Given the description of an element on the screen output the (x, y) to click on. 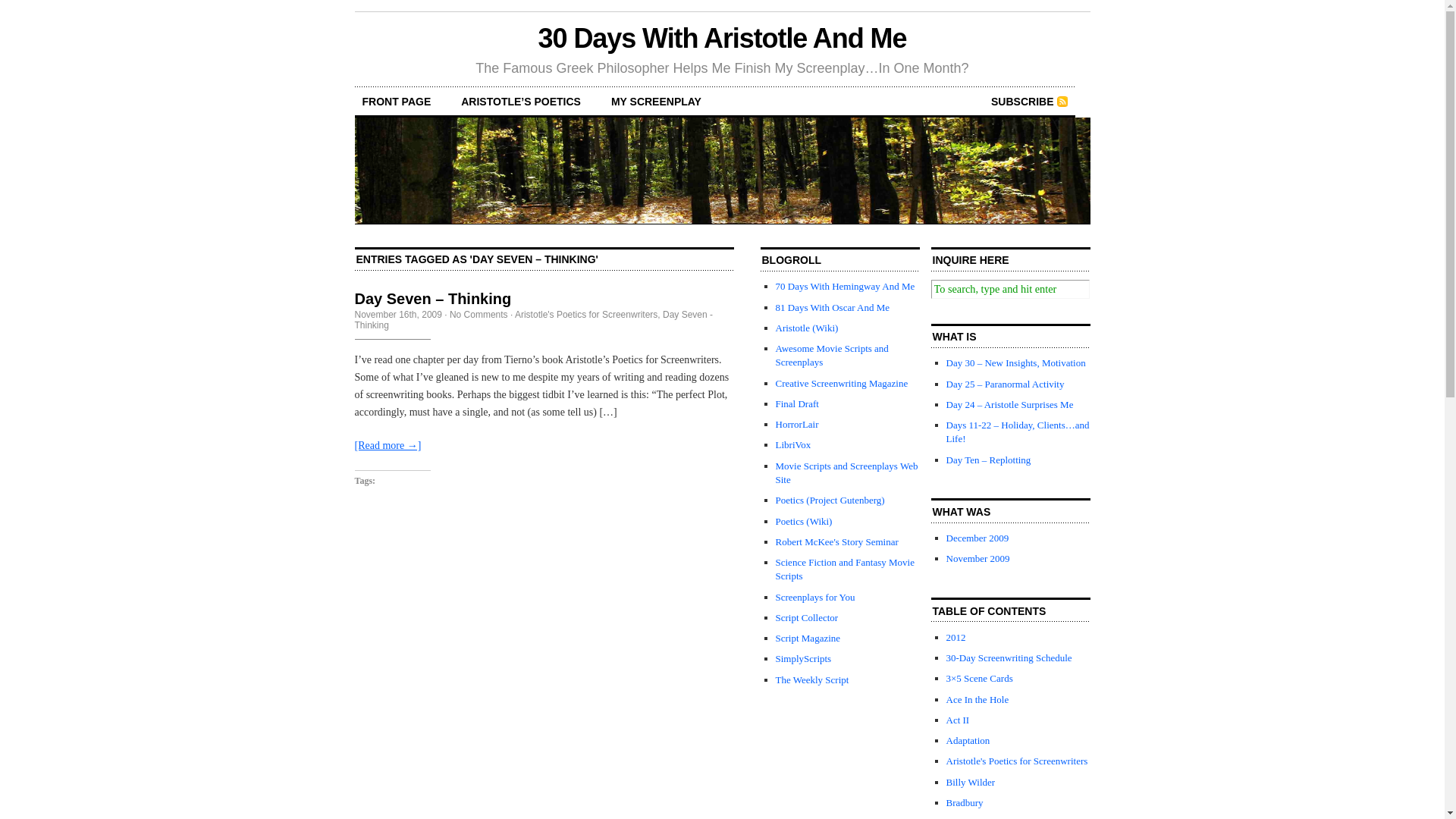
Ace In the Hole Element type: text (977, 699)
Creative Screenwriting Magazine Element type: text (841, 383)
No Comments Element type: text (478, 314)
SUBSCRIBE Element type: text (1028, 101)
70 Days With Hemingway And Me Element type: text (844, 285)
November 2009 Element type: text (978, 558)
Script Magazine Element type: text (807, 637)
Adaptation Element type: text (968, 740)
Science Fiction and Fantasy Movie Scripts Element type: text (844, 568)
30 Days With Aristotle And Me header image 4 Element type: hover (722, 170)
Script Collector Element type: text (806, 617)
Bradbury Element type: text (964, 802)
Poetics (Wiki) Element type: text (803, 521)
Movie Scripts and Screenplays Web Site Element type: text (846, 472)
Act II Element type: text (957, 719)
Aristotle's Poetics for Screenwriters Element type: text (1017, 760)
LibriVox Element type: text (792, 444)
MY SCREENPLAY Element type: text (656, 101)
Final Draft Element type: text (796, 403)
December 2009 Element type: text (977, 537)
Aristotle's Poetics for Screenwriters Element type: text (585, 314)
Billy Wilder Element type: text (970, 781)
81 Days With Oscar And Me Element type: text (832, 307)
2012 Element type: text (956, 637)
The Weekly Script Element type: text (811, 679)
Robert McKee's Story Seminar Element type: text (836, 541)
30 Days With Aristotle And Me Element type: text (722, 37)
Day Seven - Thinking Element type: text (533, 319)
Aristotle (Wiki) Element type: text (806, 327)
Awesome Movie Scripts and Screenplays Element type: text (831, 354)
SimplyScripts Element type: text (803, 658)
FRONT PAGE Element type: text (396, 101)
Screenplays for You Element type: text (814, 596)
Poetics (Project Gutenberg) Element type: text (829, 499)
HorrorLair Element type: text (796, 423)
30-Day Screenwriting Schedule Element type: text (1009, 657)
